Given the description of an element on the screen output the (x, y) to click on. 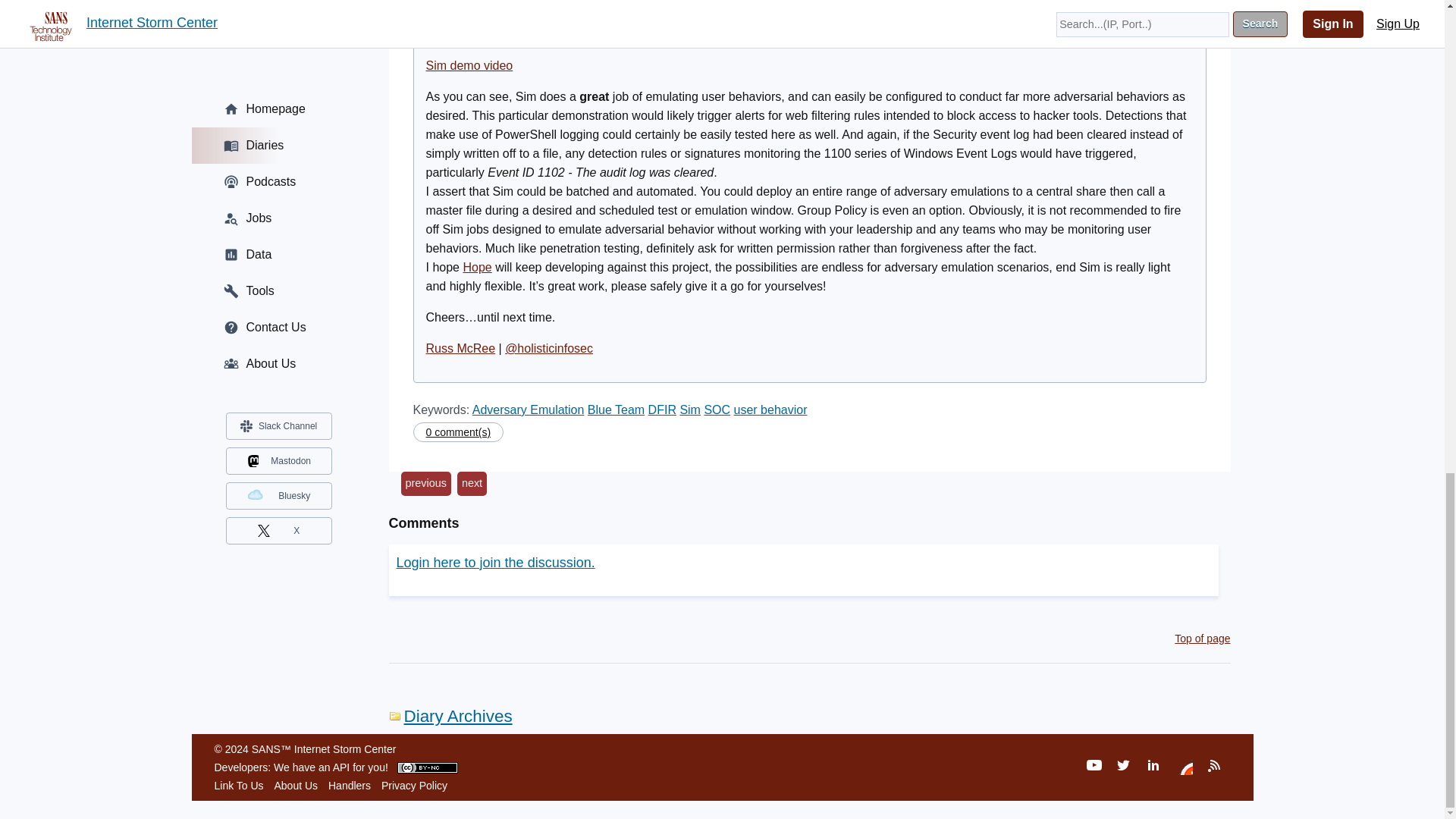
DFIR (662, 409)
SOC (716, 409)
Diary Archives (450, 715)
Sim (689, 409)
Adversary Emulation (528, 409)
previous (424, 483)
Hope (477, 267)
user behavior (770, 409)
Blue Team (616, 409)
Russ McRee (461, 348)
next (471, 483)
Login here to join the discussion. (495, 562)
Top of page (1202, 638)
Sim demo video (469, 65)
